Given the description of an element on the screen output the (x, y) to click on. 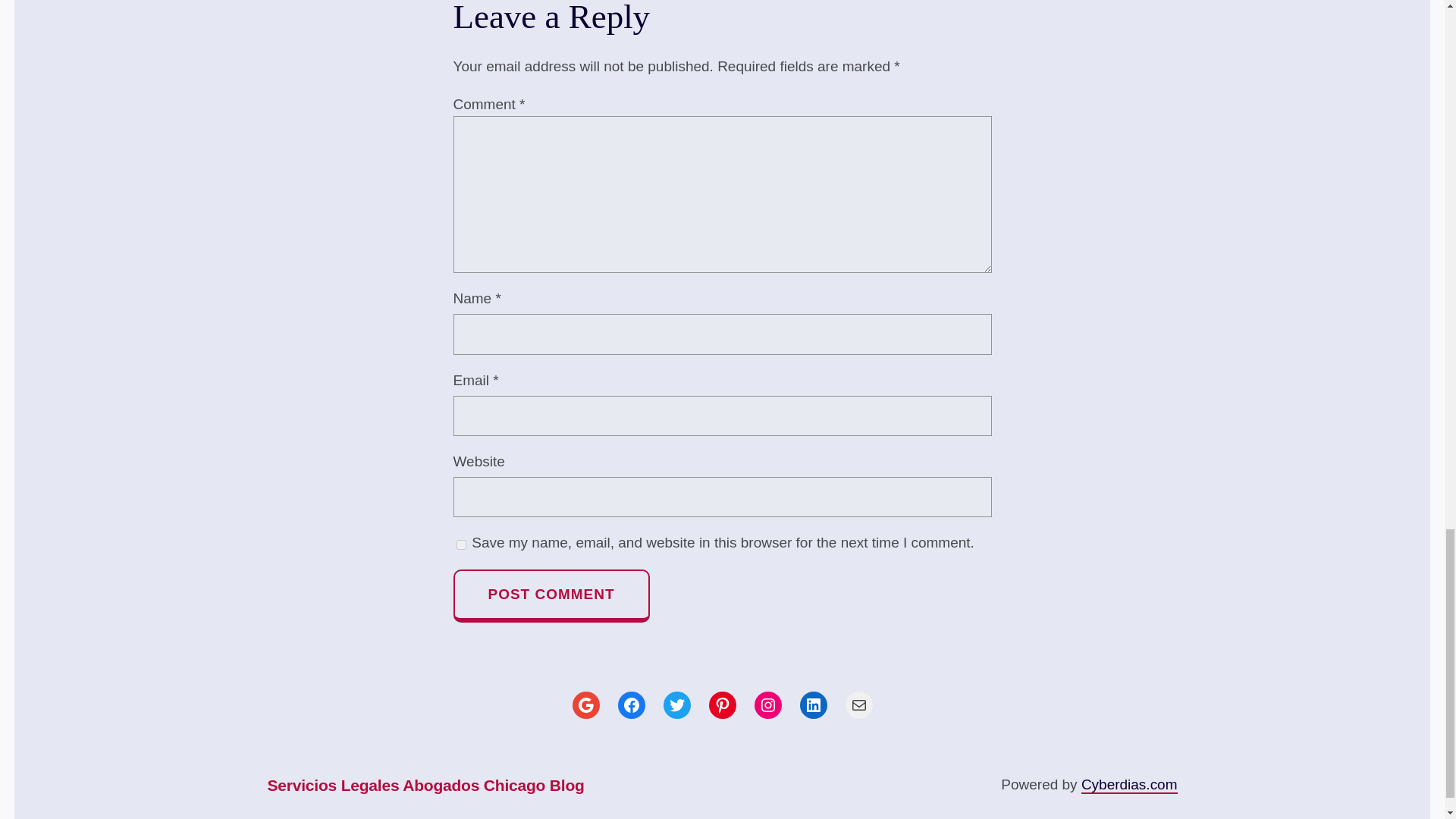
Facebook (631, 705)
Instagram (767, 705)
LinkedIn (813, 705)
Google (585, 705)
Post Comment (550, 595)
Post Comment (550, 595)
Cyberdias.com (1129, 784)
Mail (858, 705)
Servicios Legales Abogados Chicago Blog (424, 785)
Twitter (676, 705)
